Given the description of an element on the screen output the (x, y) to click on. 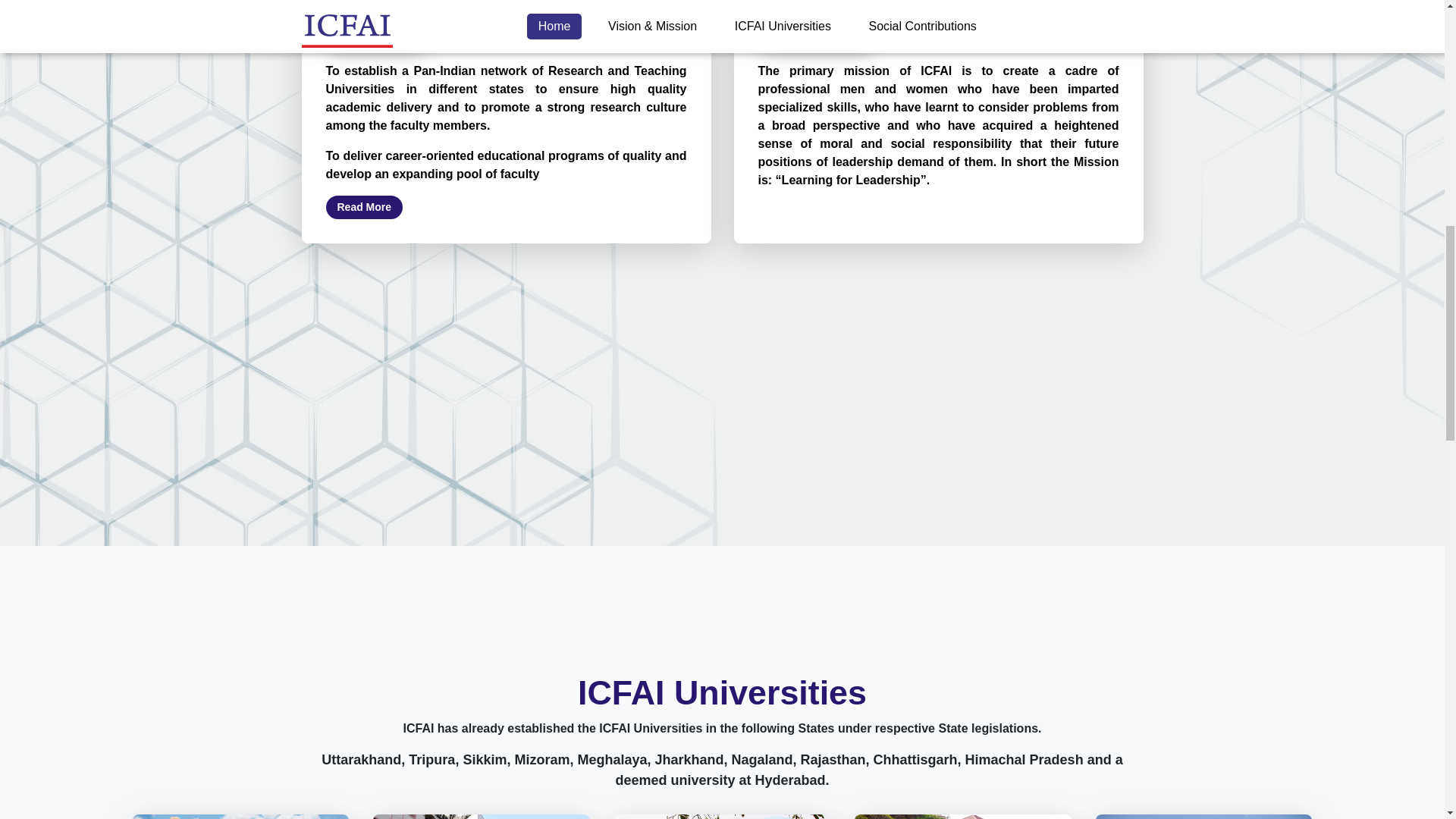
Read More (962, 816)
